Given the description of an element on the screen output the (x, y) to click on. 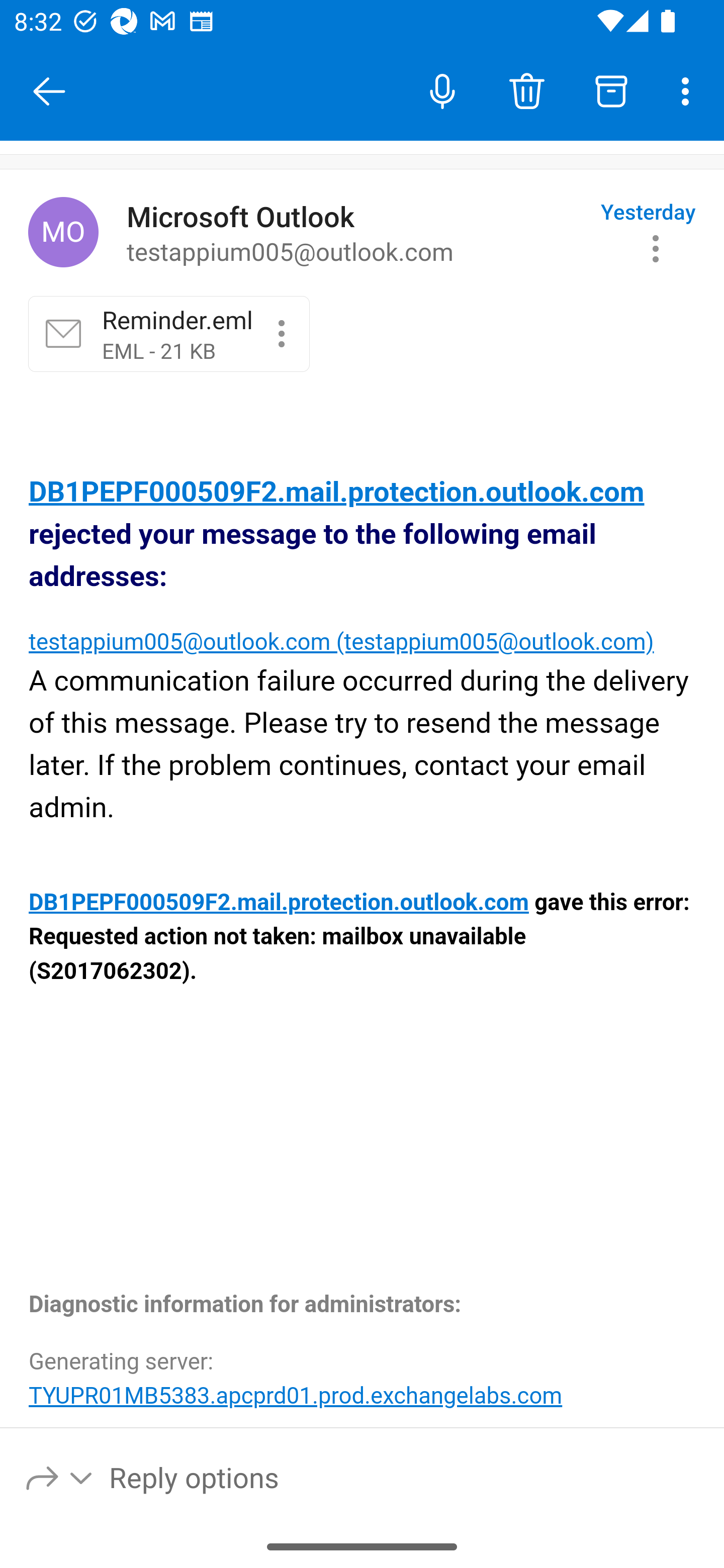
Close (49, 91)
Delete (526, 90)
Archive (611, 90)
More options (688, 90)
Microsoft Outlook
to testappium005@outlook.com (356, 232)
Message actions (655, 248)
Reminder.eml (281, 333)
DB1PEPF000509F2.mail.protection.outlook.com (336, 492)
DB1PEPF000509F2.mail.protection.outlook.com (278, 903)
TYUPR01MB5383.apcprd01.prod.exchangelabs.com (295, 1395)
Reply options (59, 1476)
